Given the description of an element on the screen output the (x, y) to click on. 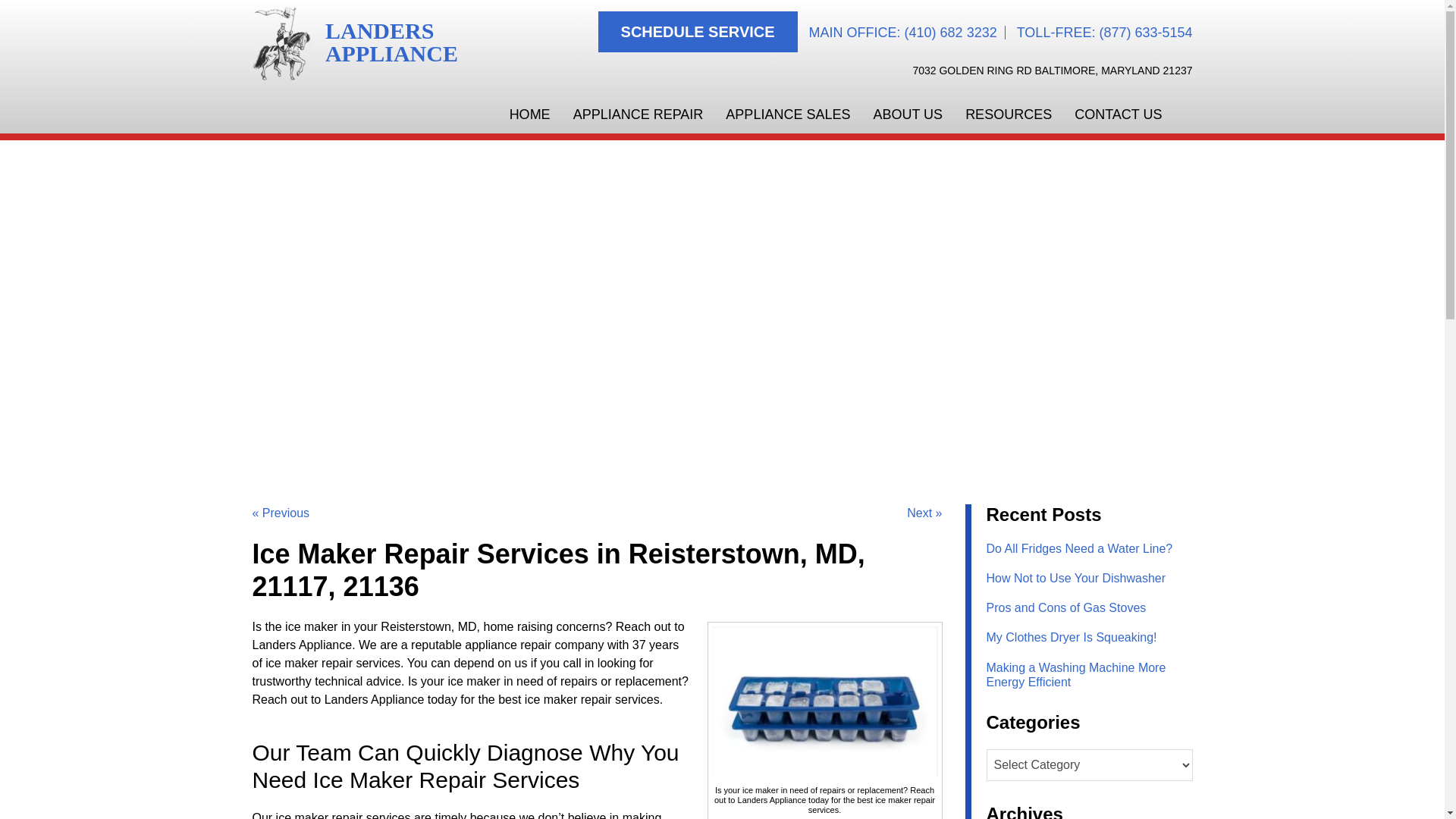
HOME (529, 114)
7032 GOLDEN RING RD BALTIMORE, MARYLAND 21237 (357, 42)
APPLIANCE REPAIR (1052, 70)
SCHEDULE SERVICE (638, 114)
